Given the description of an element on the screen output the (x, y) to click on. 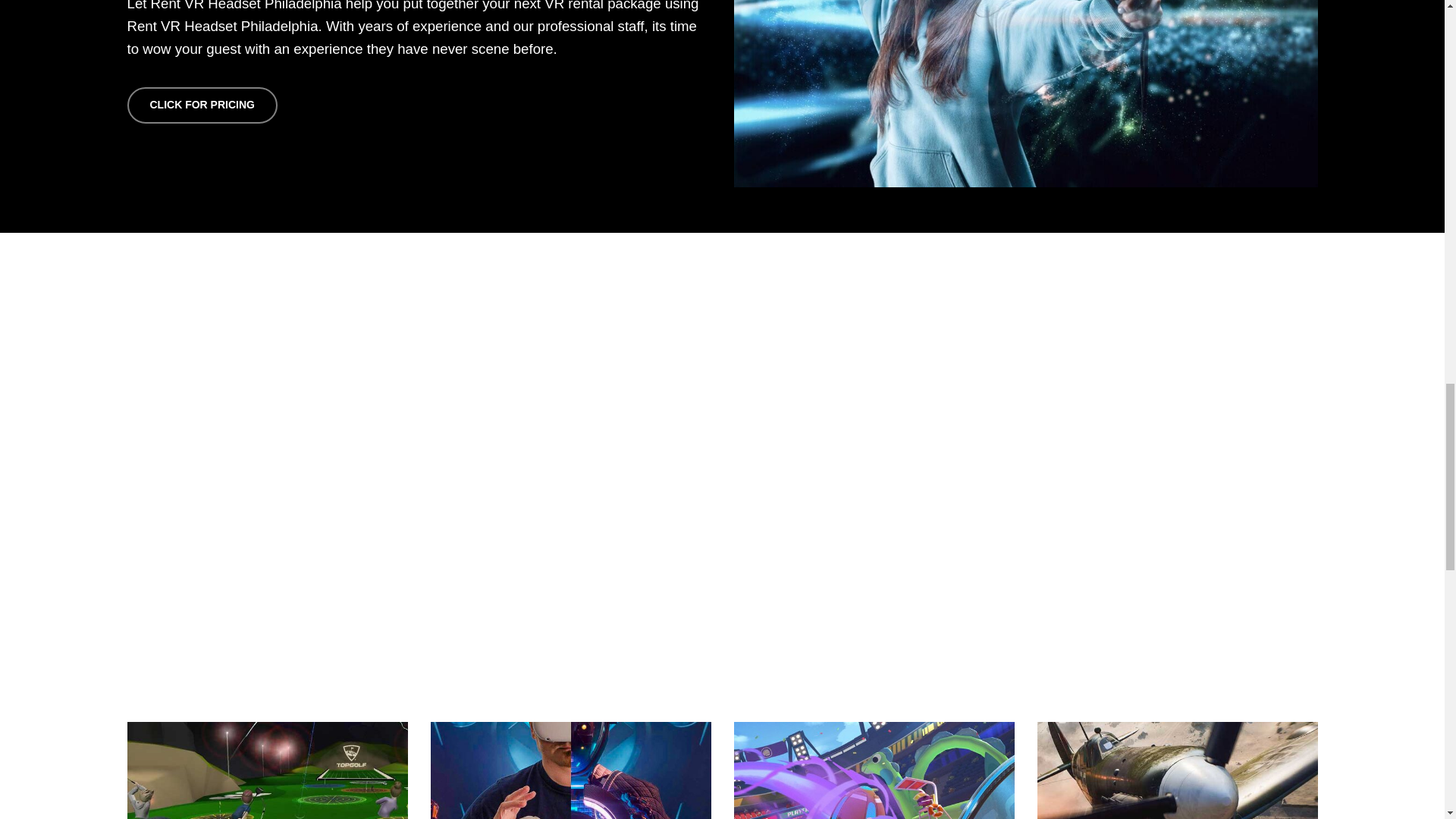
warplanes (1176, 770)
golfing (267, 770)
vr-headset-rental---vr-man (570, 770)
vr-headset-rental---sports-scramble-video (873, 770)
